Given the description of an element on the screen output the (x, y) to click on. 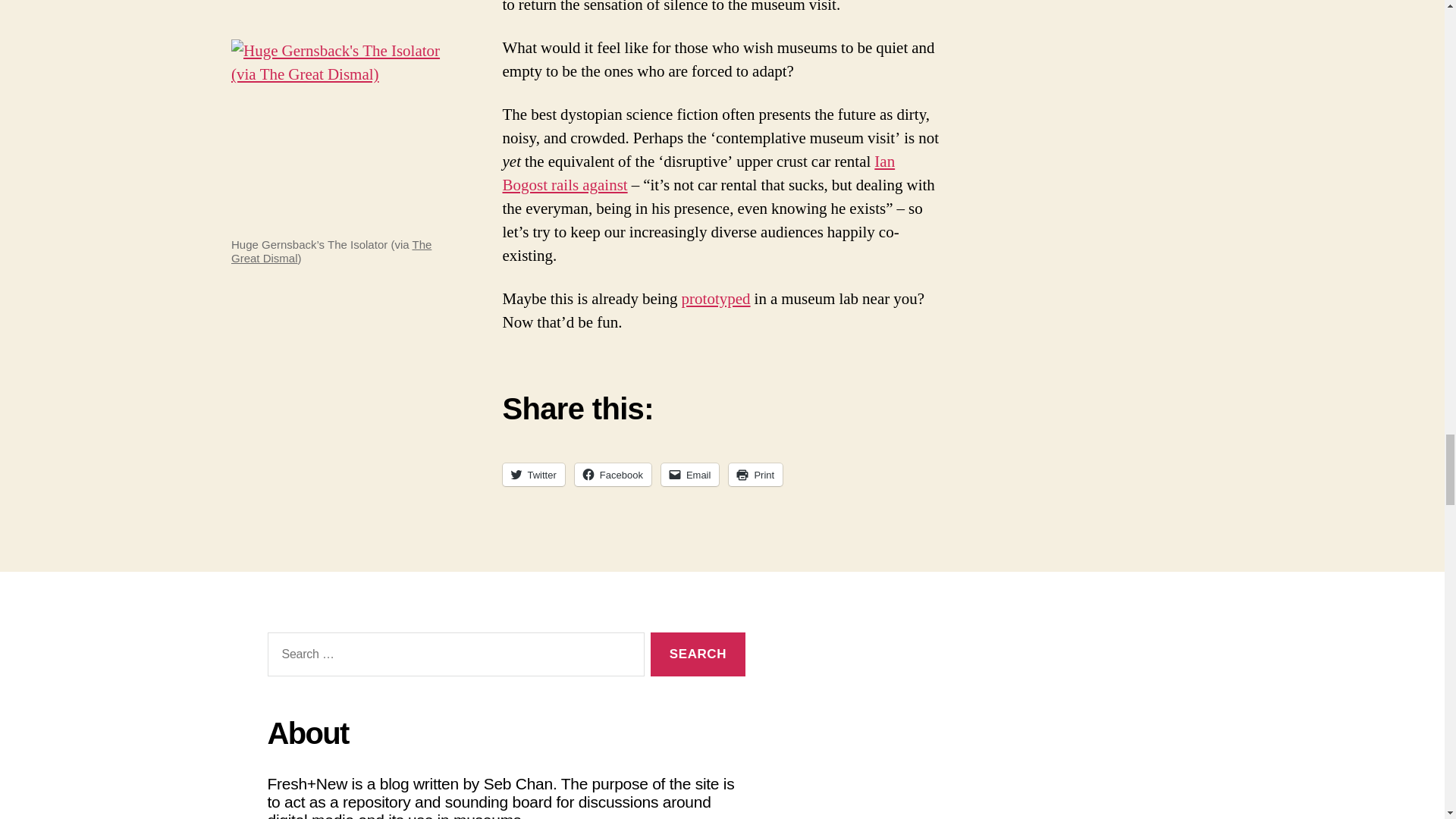
Click to share on Facebook (612, 474)
Click to print (756, 474)
Search (697, 654)
Search (697, 654)
Click to email a link to a friend (690, 474)
Click to share on Twitter (533, 474)
